Given the description of an element on the screen output the (x, y) to click on. 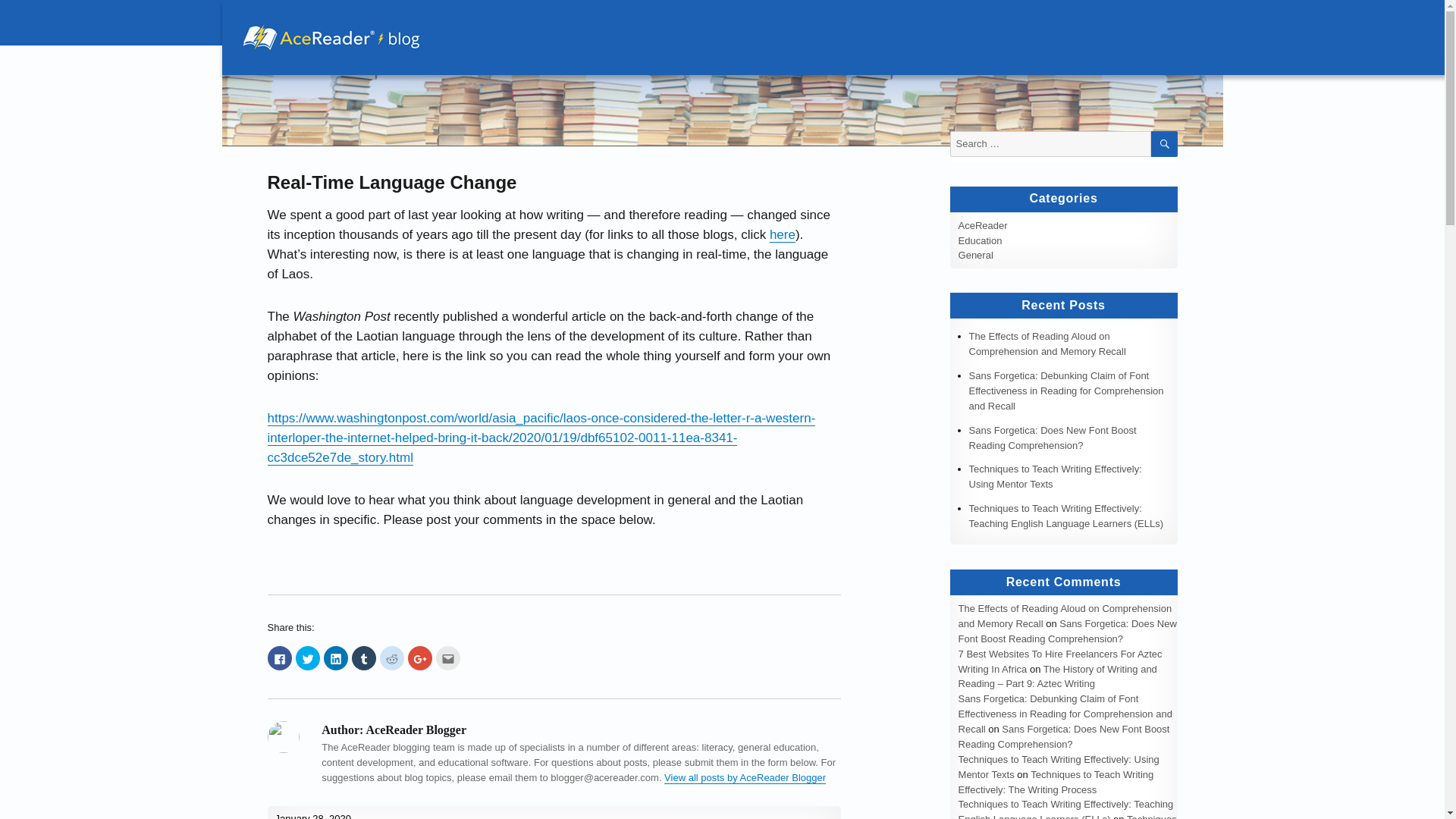
Sans Forgetica: Does New Font Boost Reading Comprehension? (1067, 631)
Education (980, 240)
here (782, 234)
Click to share on Tumblr (363, 658)
Click to share on Facebook (278, 658)
AceReader (982, 225)
General (975, 255)
Click to email this to a friend (447, 658)
